Given the description of an element on the screen output the (x, y) to click on. 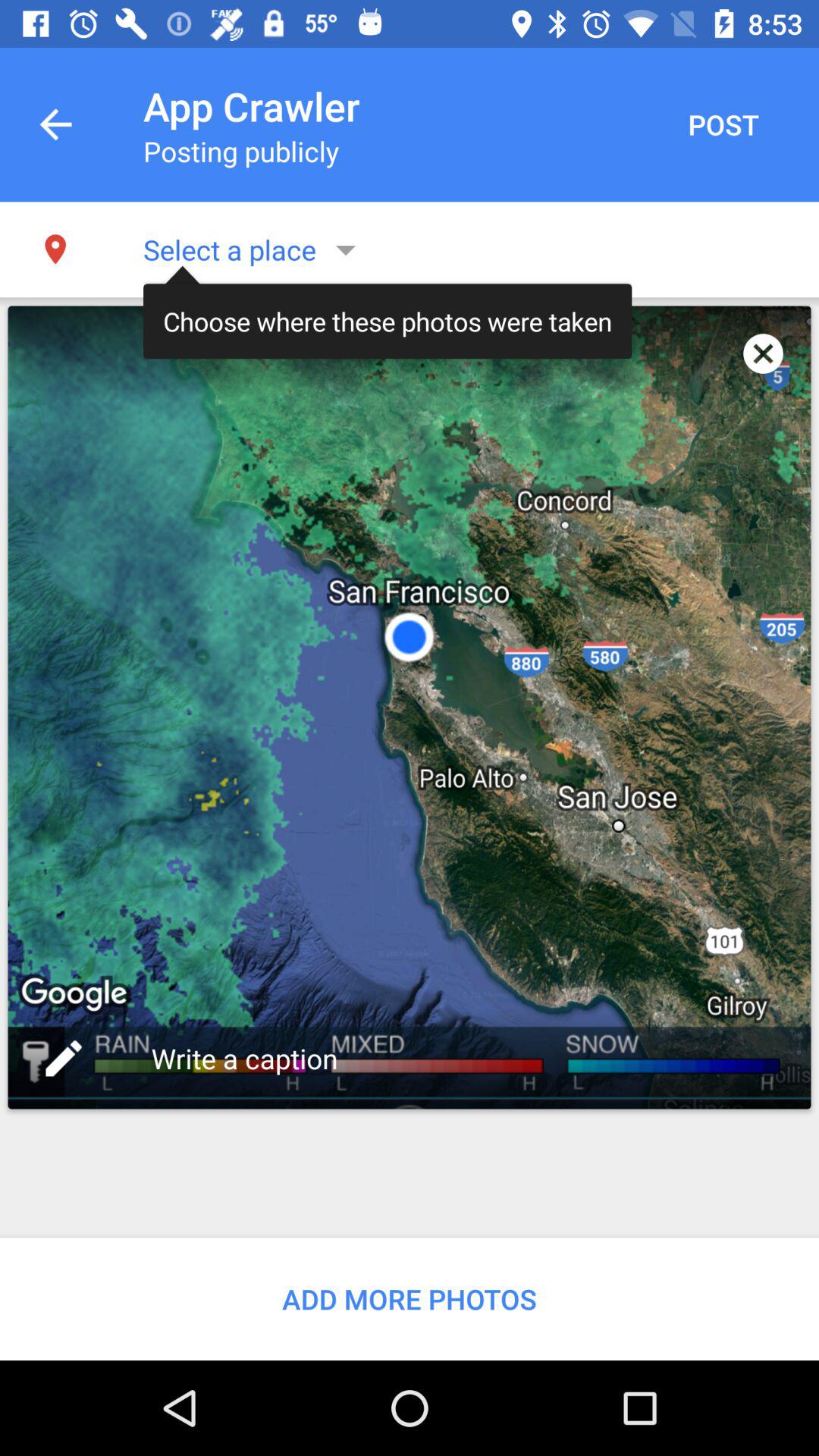
select the item to the right of the app crawler item (723, 124)
